Given the description of an element on the screen output the (x, y) to click on. 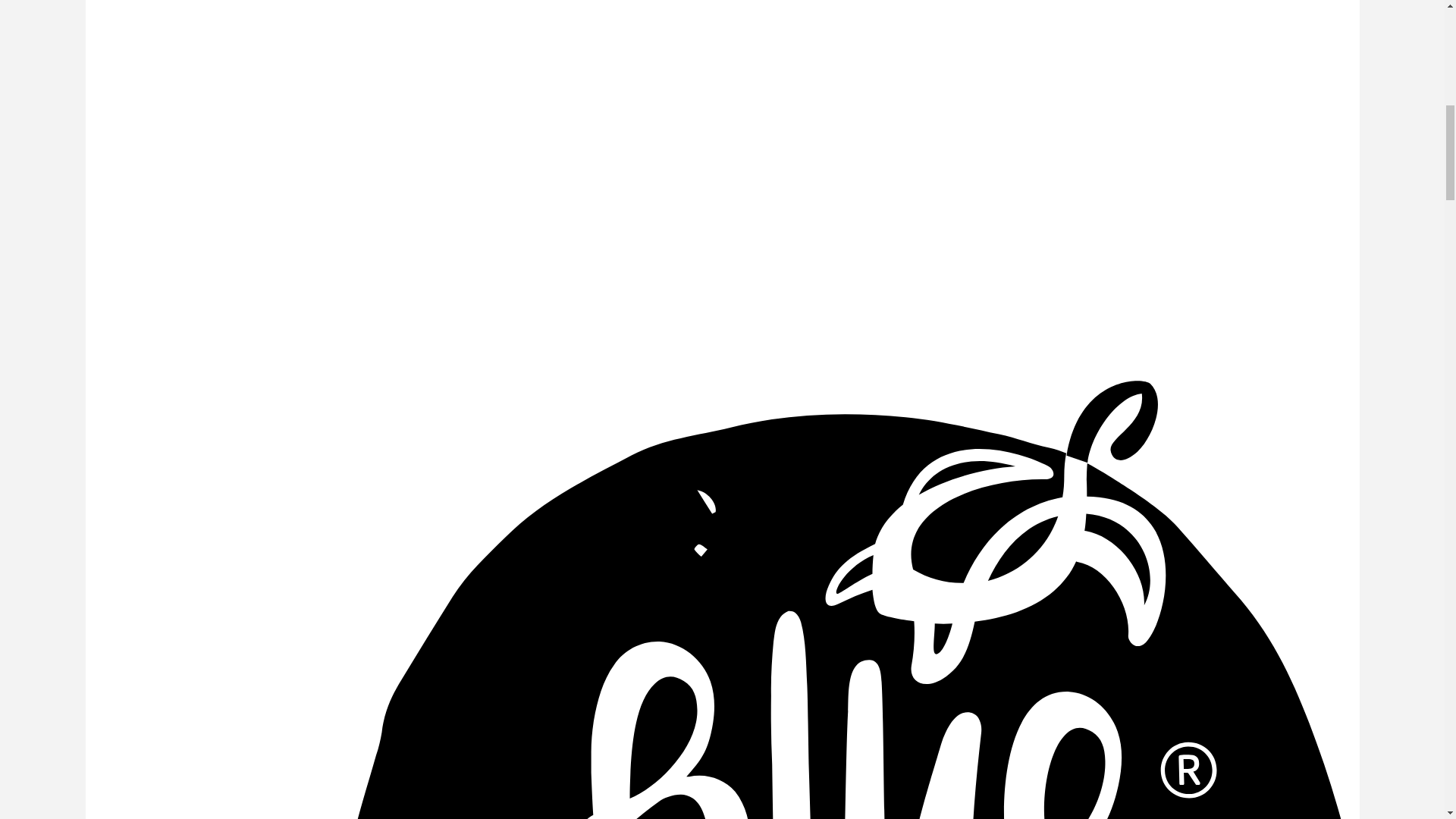
HE (1343, 295)
EN (1343, 327)
